Given the description of an element on the screen output the (x, y) to click on. 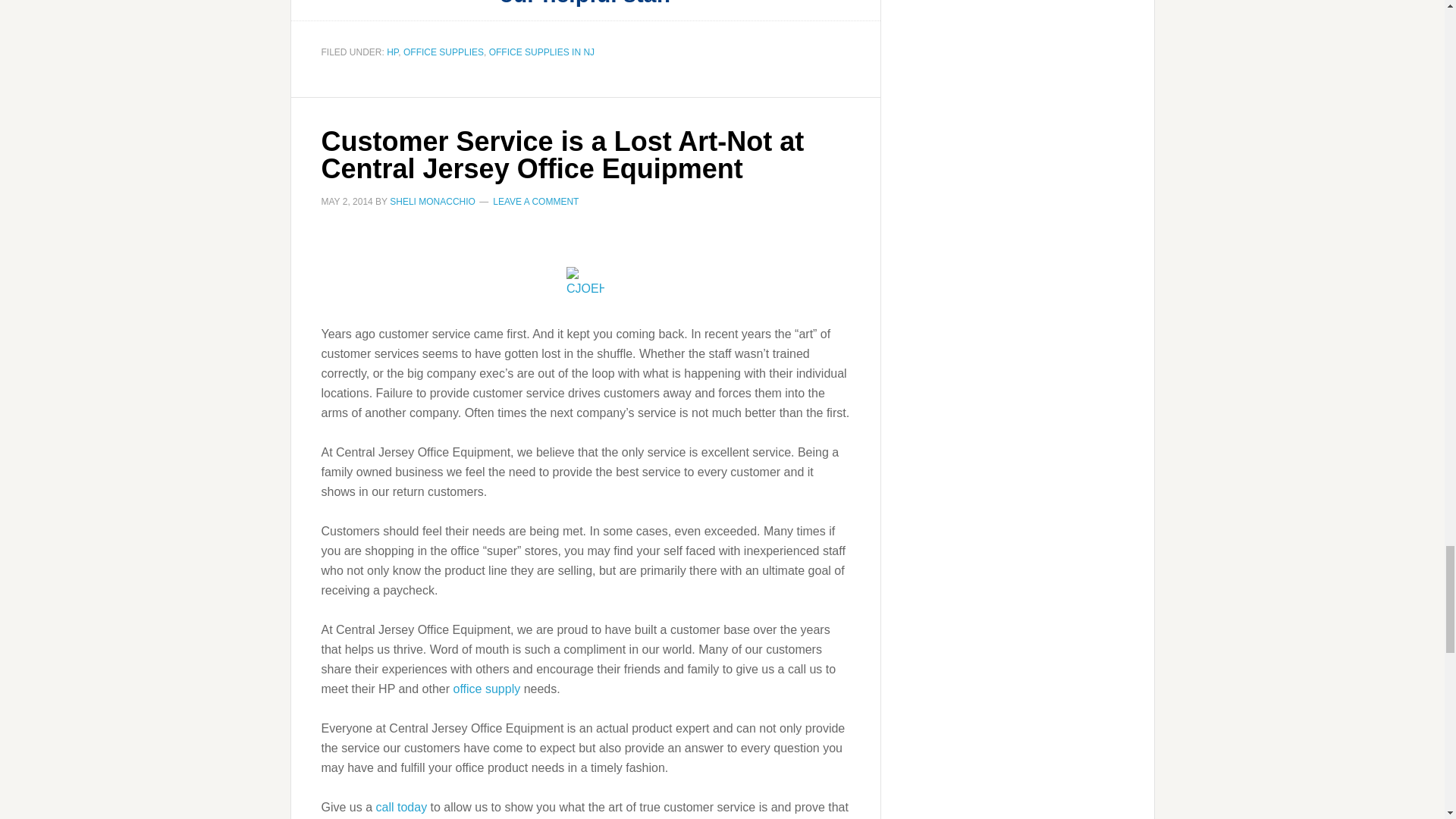
OFFICE SUPPLIES IN NJ (541, 51)
call today (401, 807)
LEAVE A COMMENT (535, 201)
SHELI MONACCHIO (433, 201)
office supply (486, 688)
supply finder (486, 688)
OFFICE SUPPLIES (443, 51)
Central Jersey Office Equipment (401, 807)
HP (392, 51)
